Given the description of an element on the screen output the (x, y) to click on. 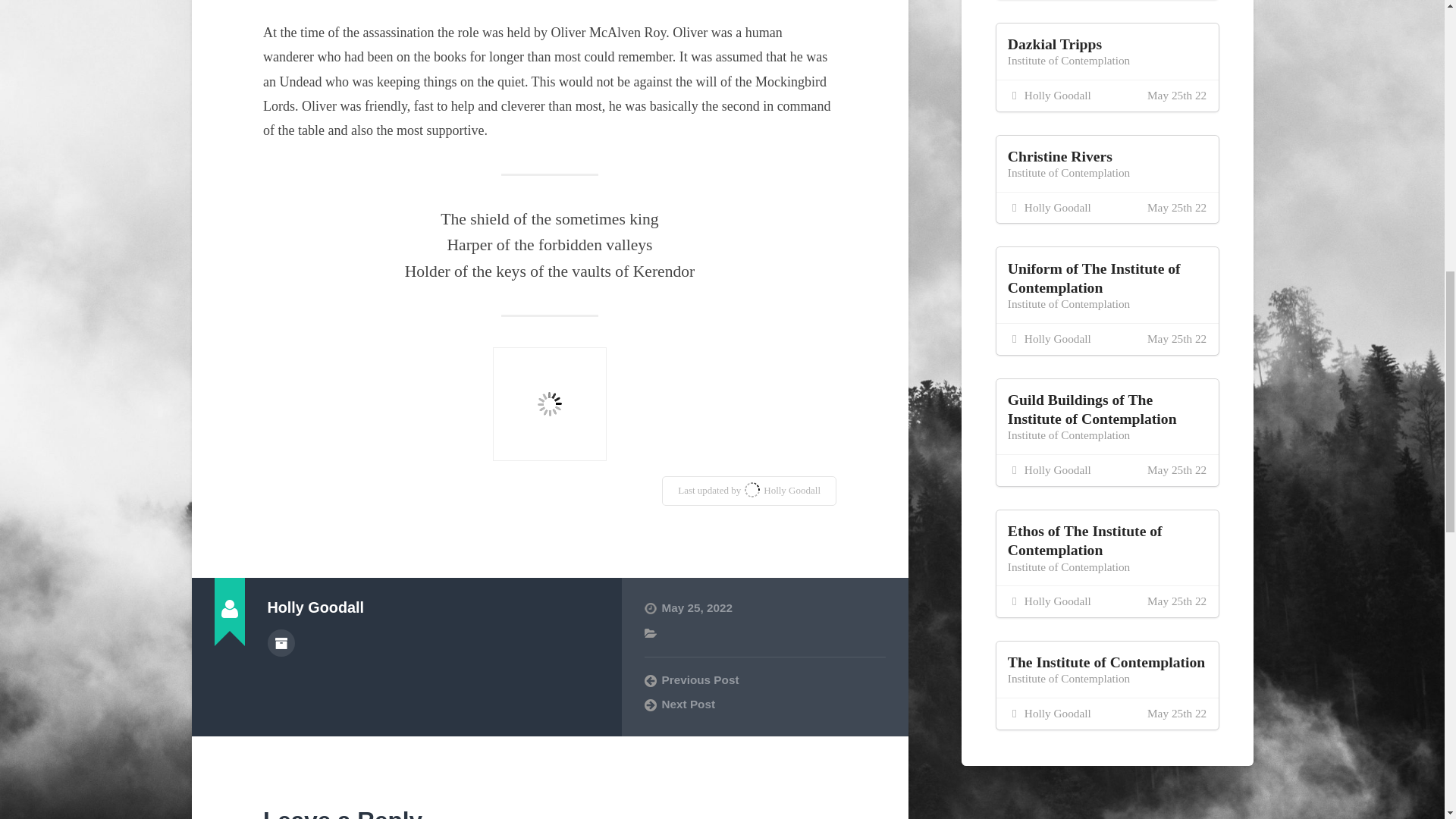
Dazkial Tripps (1054, 52)
Author archive (280, 642)
Institute of Contemplation (1068, 303)
Uniform of The Institute of Contemplation (1093, 277)
Next Post (765, 703)
Institute of Contemplation (1068, 172)
Guild Buildings of The Institute of Contemplation (1091, 408)
Previous Post (765, 679)
Institute of Contemplation (1068, 60)
